Given the description of an element on the screen output the (x, y) to click on. 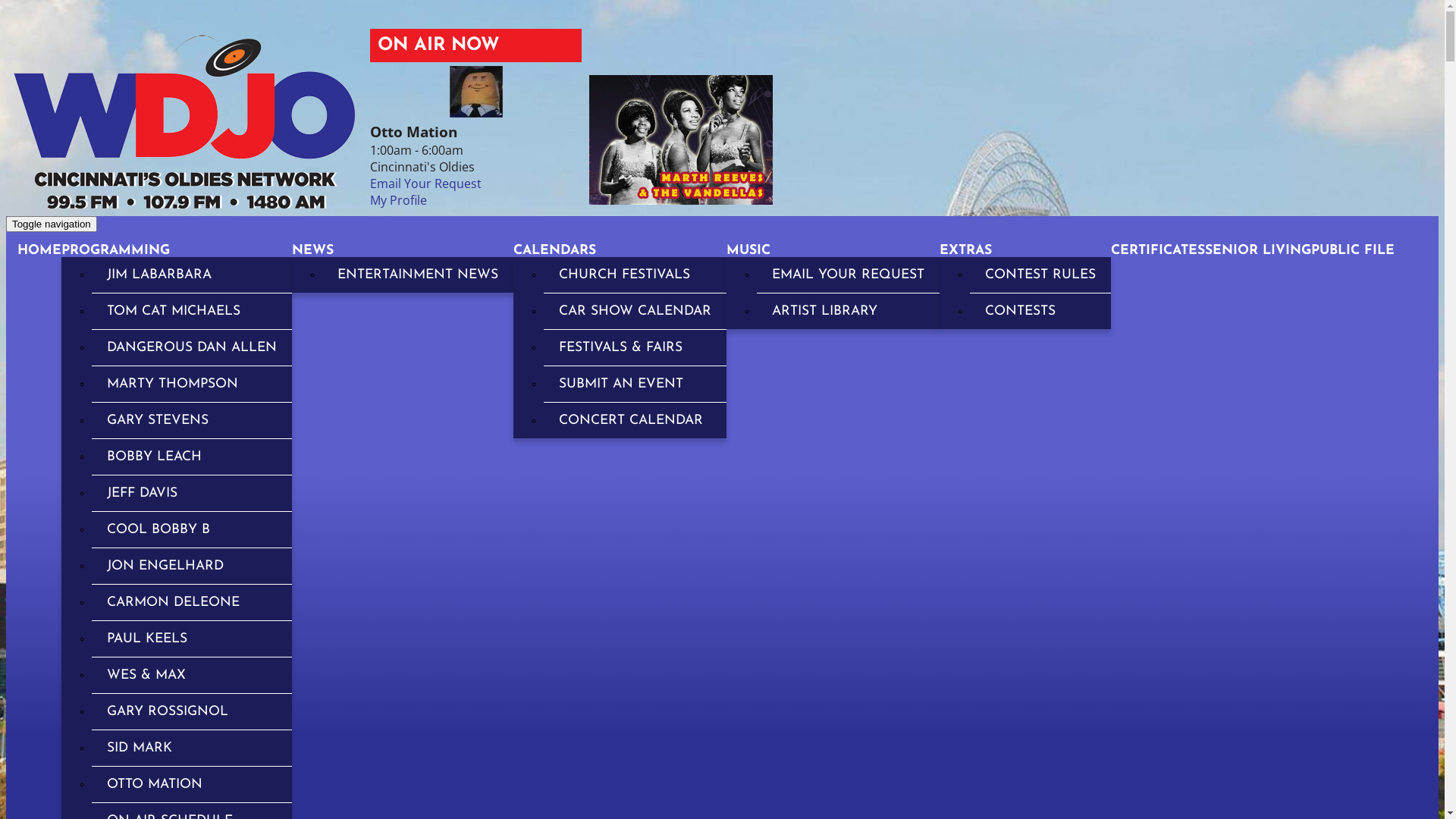
PAUL KEELS Element type: text (191, 638)
ENTERTAINMENT NEWS Element type: text (417, 274)
CHURCH FESTIVALS Element type: text (634, 274)
COOL BOBBY B Element type: text (191, 529)
OTTO MATION Element type: text (191, 784)
CONTEST RULES Element type: text (1039, 274)
CAR SHOW CALENDAR Element type: text (634, 311)
MUSIC Element type: text (748, 250)
BOBBY LEACH Element type: text (191, 456)
JON ENGELHARD Element type: text (191, 565)
GARY STEVENS Element type: text (191, 420)
Toggle navigation Element type: text (51, 224)
SENIOR LIVING Element type: text (1257, 250)
SID MARK Element type: text (191, 747)
CARMON DELEONE Element type: text (191, 602)
EXTRAS Element type: text (965, 250)
FESTIVALS & FAIRS Element type: text (634, 347)
HOME Element type: text (39, 250)
NEWS Element type: text (312, 250)
TOM CAT MICHAELS Element type: text (191, 311)
CONTESTS Element type: text (1039, 311)
SUBMIT AN EVENT Element type: text (634, 383)
CERTIFICATES Element type: text (1157, 250)
JIM LABARBARA Element type: text (191, 274)
ARTIST LIBRARY Element type: text (847, 311)
MARTY THOMPSON Element type: text (191, 383)
PUBLIC FILE Element type: text (1352, 250)
CALENDARS Element type: text (554, 250)
GARY ROSSIGNOL Element type: text (191, 711)
EMAIL YOUR REQUEST Element type: text (847, 274)
JEFF DAVIS Element type: text (191, 493)
CONCERT CALENDAR Element type: text (634, 420)
PROGRAMMING Element type: text (115, 250)
My Profile Element type: text (398, 199)
Email Your Request Element type: text (425, 183)
DANGEROUS DAN ALLEN Element type: text (191, 347)
WES & MAX Element type: text (191, 675)
